Given the description of an element on the screen output the (x, y) to click on. 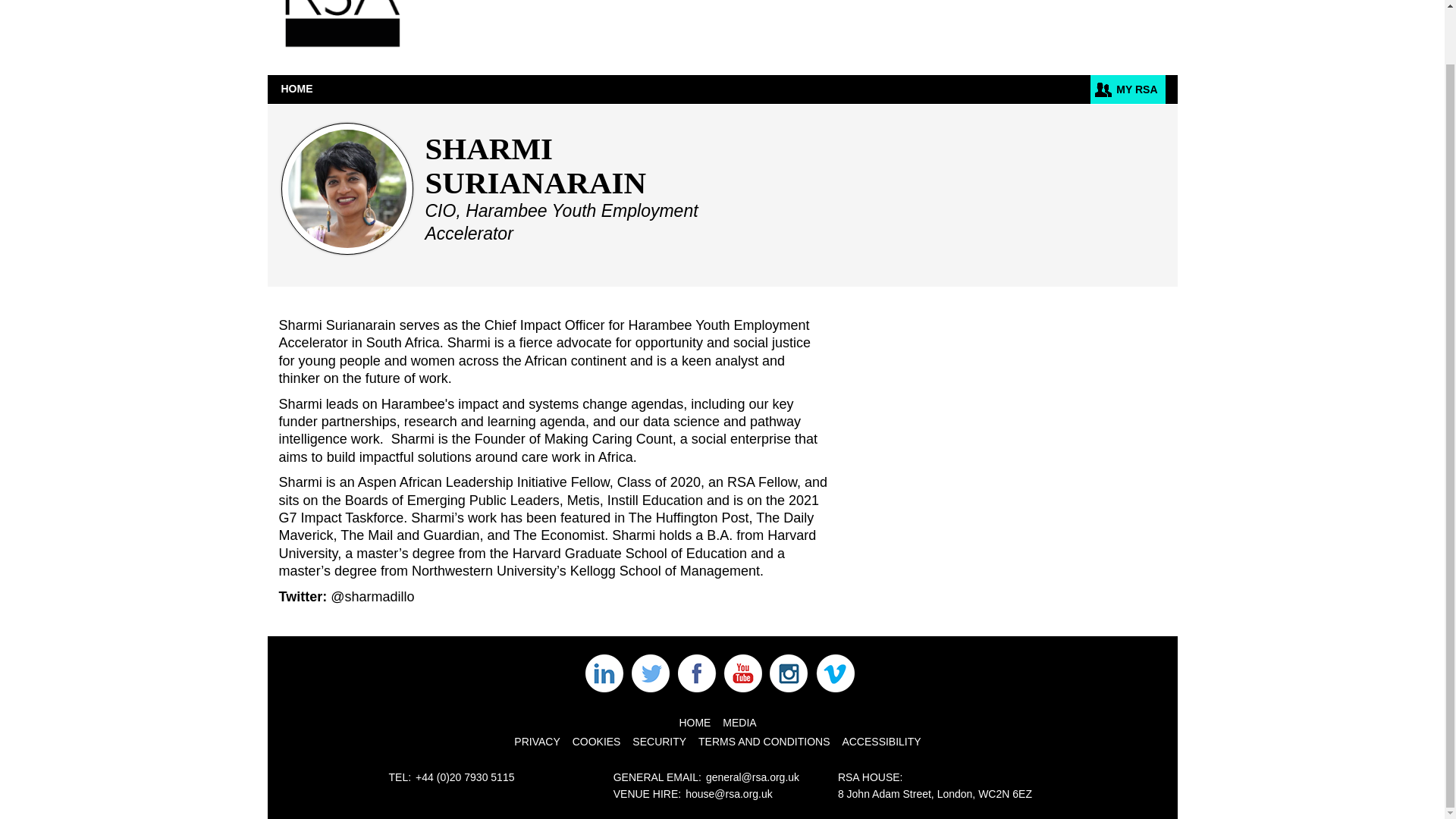
ACCESSIBILITY (880, 741)
MY RSA (1127, 89)
MEDIA (738, 722)
SECURITY (658, 741)
HOME (295, 89)
HOME (694, 722)
PRIVACY (536, 741)
TERMS AND CONDITIONS (763, 741)
COOKIES (596, 741)
